Given the description of an element on the screen output the (x, y) to click on. 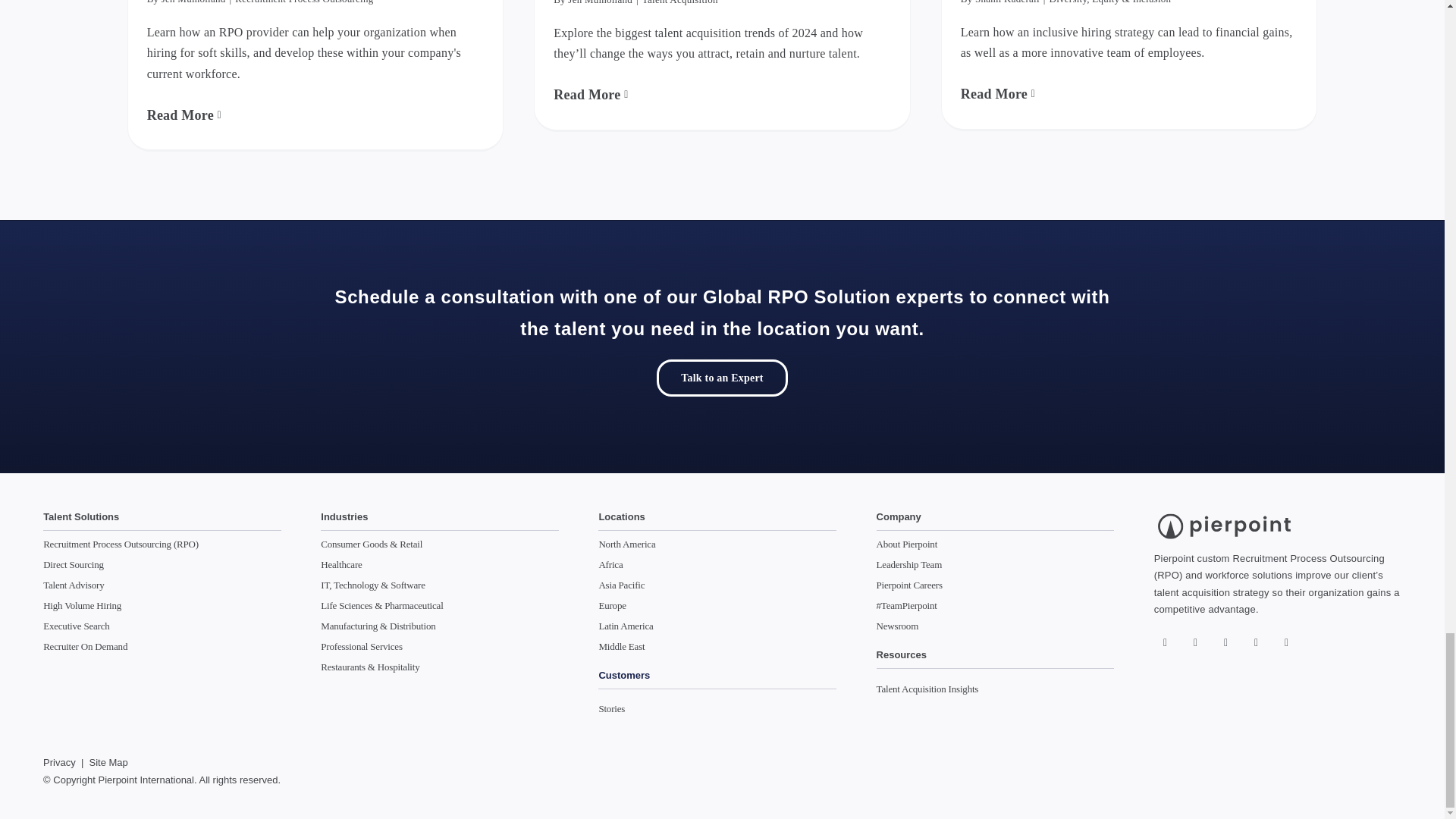
LinkedIn (1286, 642)
Posts by Jen Mulholland (599, 2)
Instagram (1225, 642)
YouTube (1256, 642)
Facebook (1165, 642)
Posts by Jen Mulholland (193, 2)
X (1196, 642)
Posts by Shanil Kaderali (1007, 2)
